Given the description of an element on the screen output the (x, y) to click on. 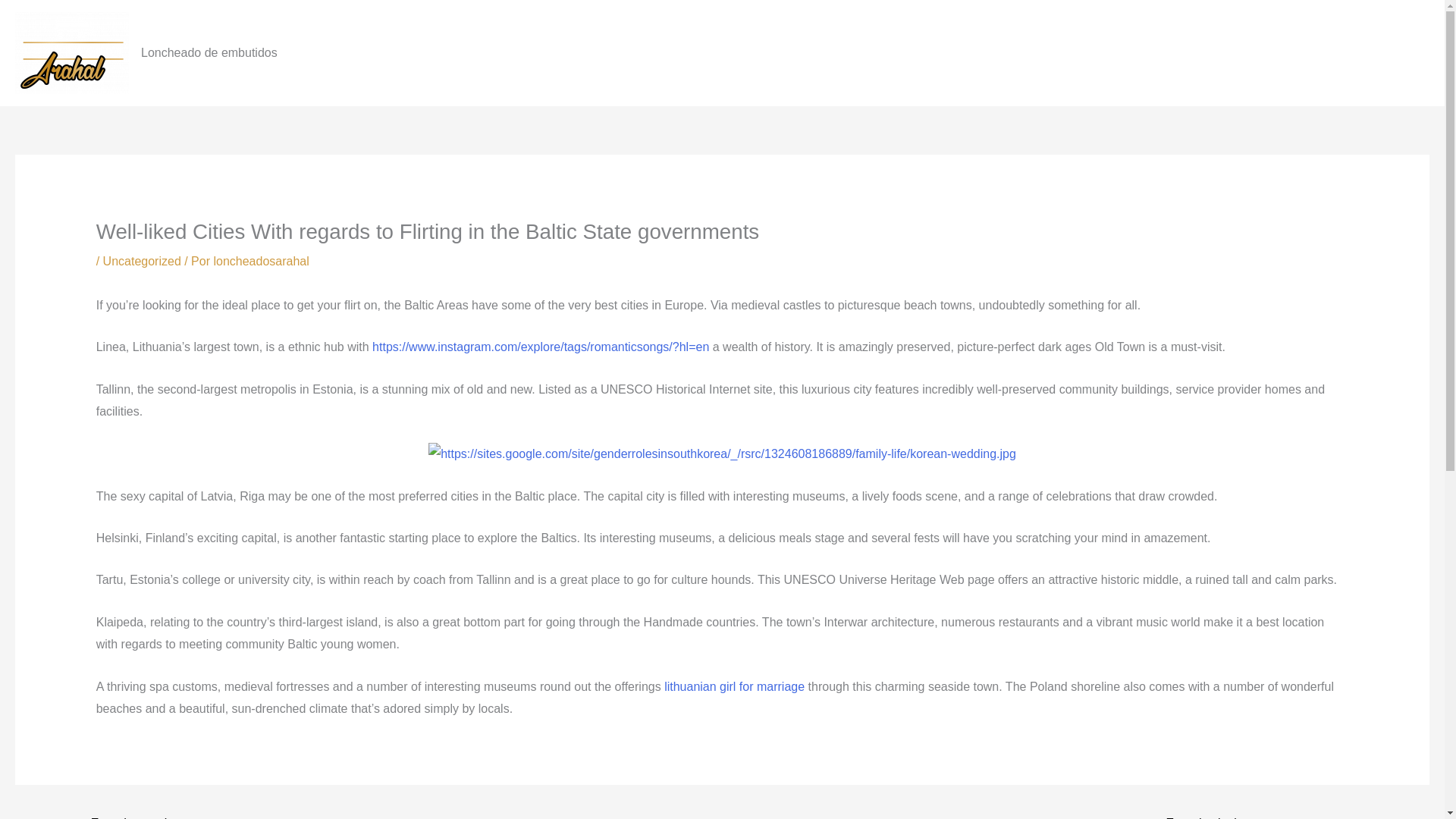
Hook Up on Tinder (1220, 814)
loncheadosarahal (260, 260)
Uncategorized (141, 260)
Ver todas las entradas de loncheadosarahal (260, 260)
Nosotros (1189, 52)
Contacto (1392, 52)
Exactly what is a Soulmate? (125, 814)
Nuestros Productos (1290, 52)
lithuanian girl for marriage (734, 686)
